Given the description of an element on the screen output the (x, y) to click on. 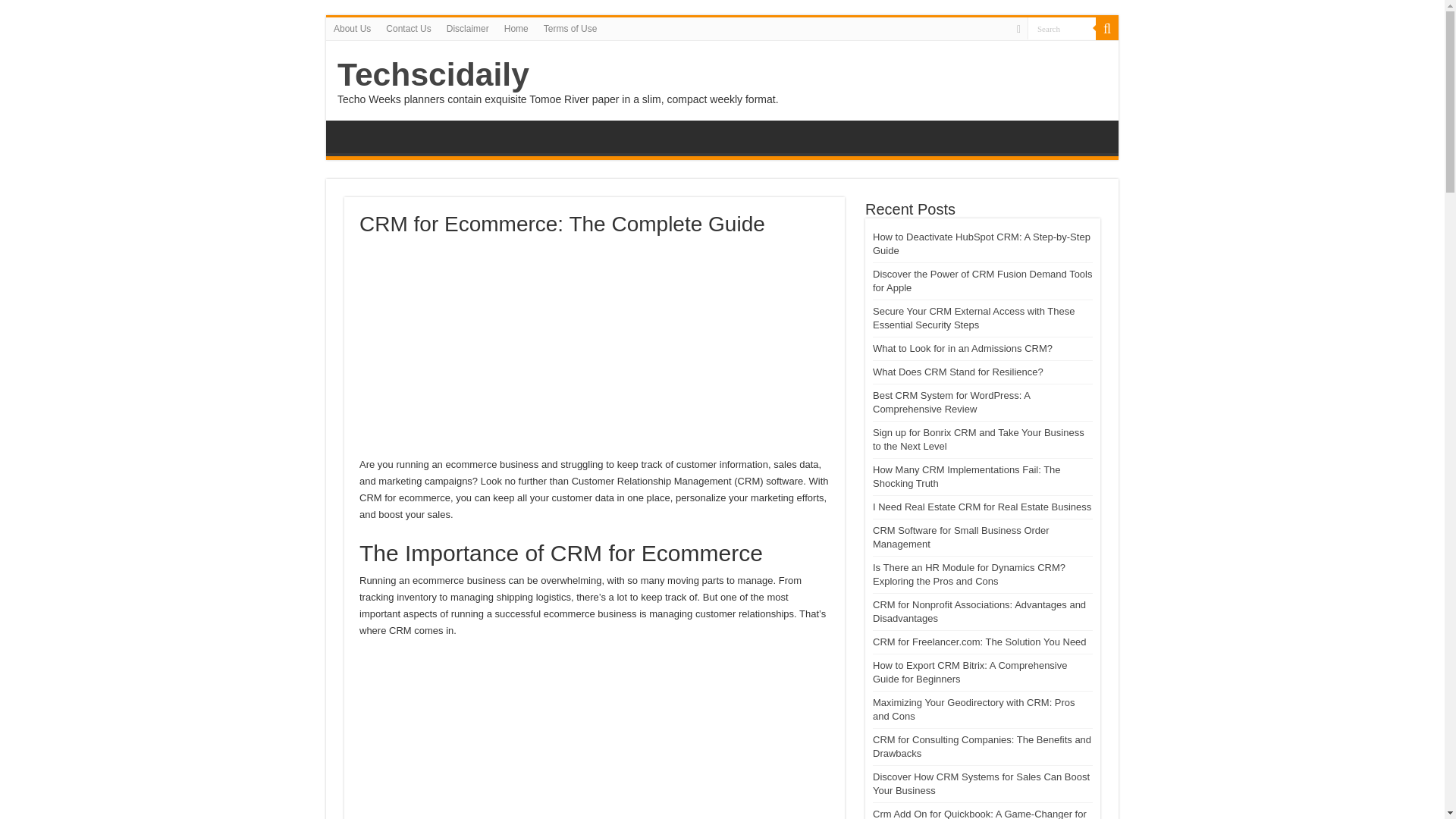
CRM for Nonprofit Associations: Advantages and Disadvantages (979, 611)
CRM Software for Small Business Order Management (960, 536)
Search (1107, 28)
Techscidaily (433, 74)
Contact Us (408, 28)
Advertisement (594, 350)
Search (1061, 28)
Advertisement (594, 736)
Search (1061, 28)
